Given the description of an element on the screen output the (x, y) to click on. 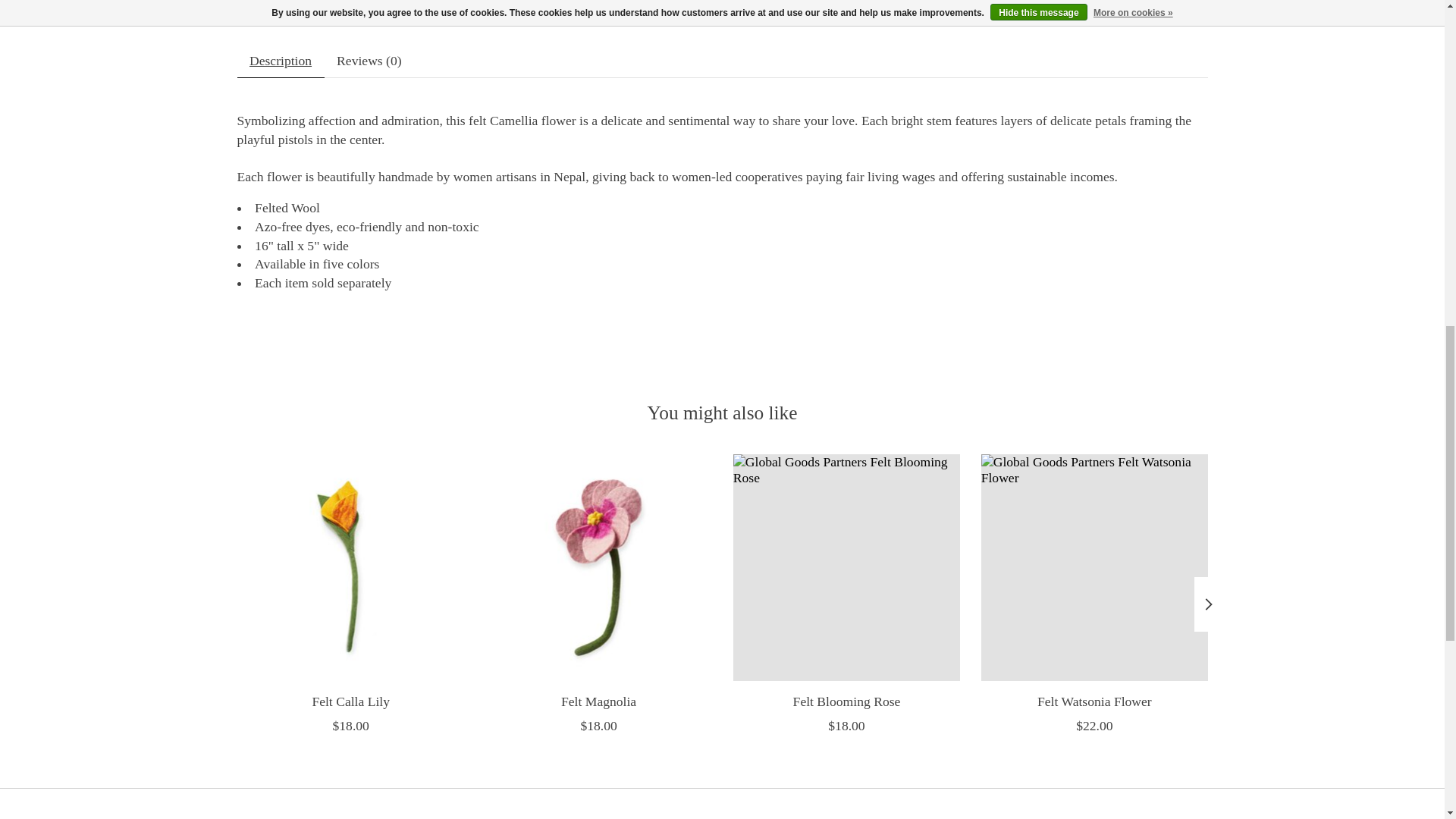
Global Goods Partners Felt Calla Lily (349, 567)
Global Goods Partners Felt Watsonia Flower (1093, 567)
Global Goods Partners Felt Blooming Rose (845, 567)
Global Goods Partners Felt Magnolia (597, 567)
